Given the description of an element on the screen output the (x, y) to click on. 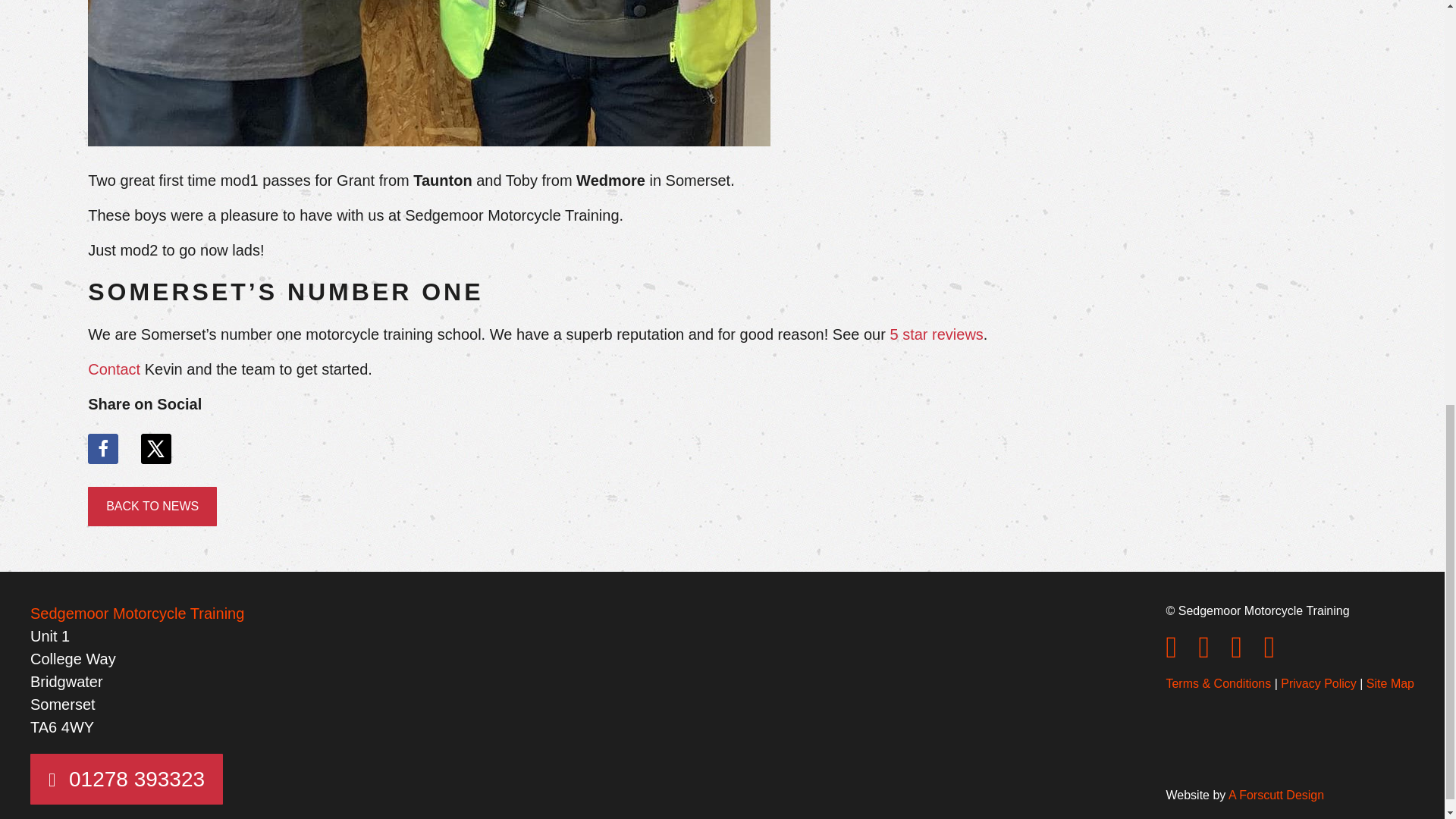
Privacy Policy (1318, 683)
Contact (113, 369)
Sedgemoor Motorcycle Training on Facebook (1172, 653)
Twitter (1238, 653)
Instagram (1205, 653)
Sedgemoor Motorcycle Training (137, 612)
01278 393323 (126, 778)
A Forscutt Design (1275, 794)
Facebook (1172, 653)
Back to Motorcycle Training News (151, 506)
